Given the description of an element on the screen output the (x, y) to click on. 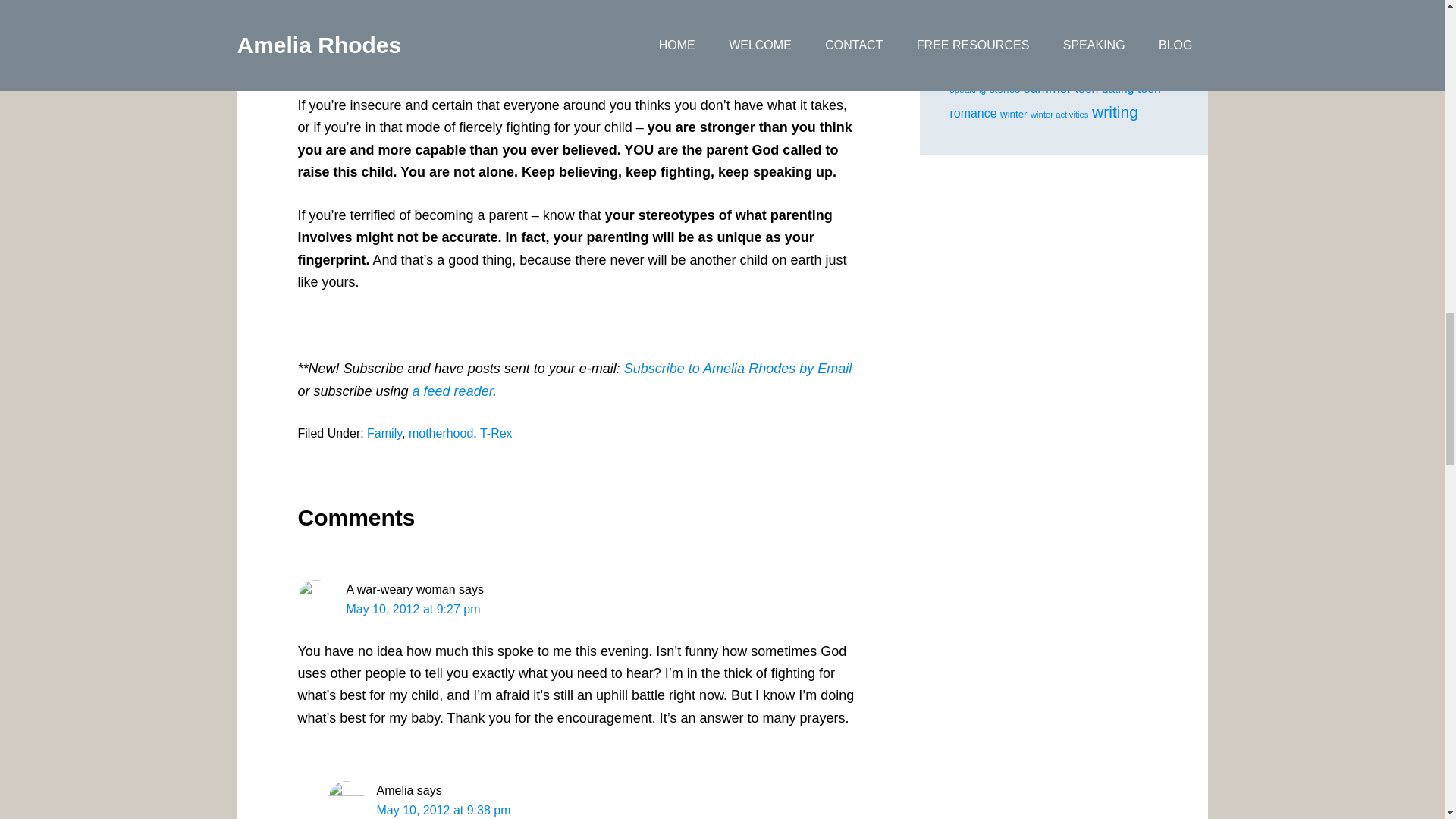
Subscribe to Amelia Rhodes by Email (737, 368)
May 10, 2012 at 9:27 pm (413, 608)
T-Rex (496, 432)
Family (383, 432)
a feed reader (452, 391)
May 10, 2012 at 9:38 pm (443, 809)
motherhood (441, 432)
